Given the description of an element on the screen output the (x, y) to click on. 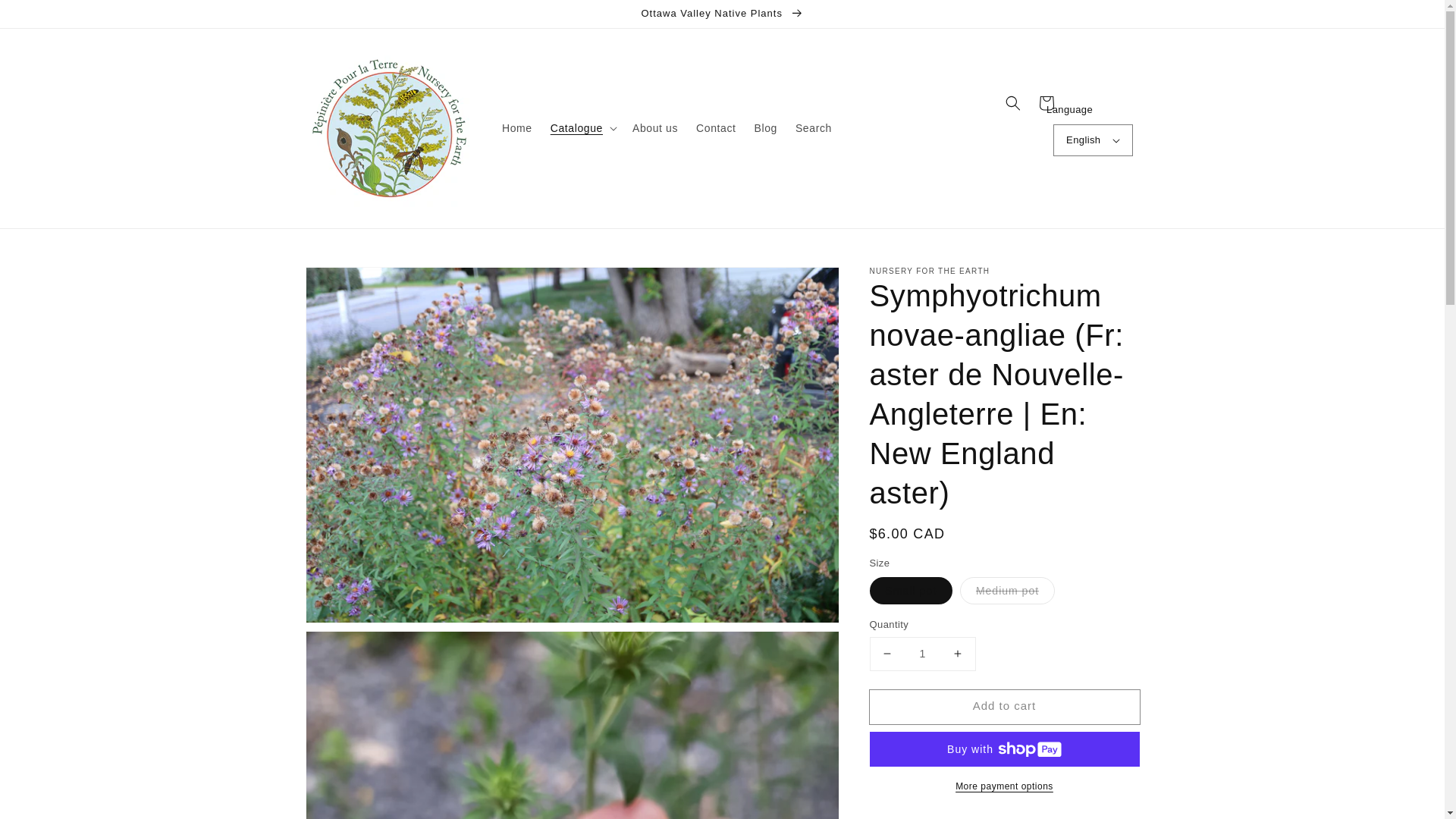
Skip to content (45, 16)
1 (922, 654)
